Given the description of an element on the screen output the (x, y) to click on. 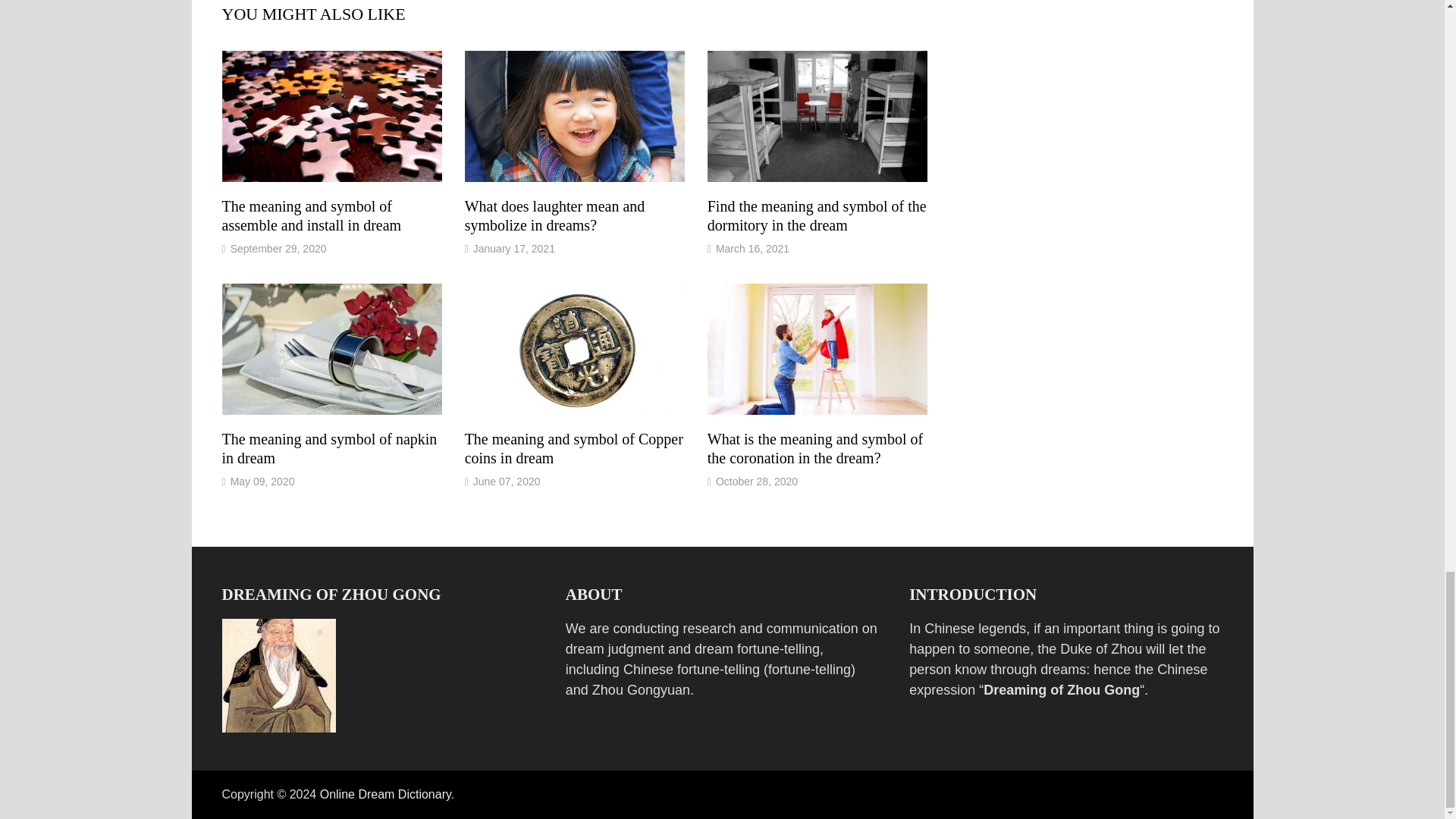
March 16, 2021 (752, 248)
June 07, 2020 (506, 481)
The meaning and symbol of assemble and install in dream (311, 215)
The meaning and symbol of napkin in dream (328, 448)
The meaning and symbol of assemble and install in dream (311, 215)
May 09, 2020 (262, 481)
September 29, 2020 (278, 248)
What does laughter mean and symbolize in dreams? (554, 215)
The meaning and symbol of Copper coins in dream (573, 448)
